Given the description of an element on the screen output the (x, y) to click on. 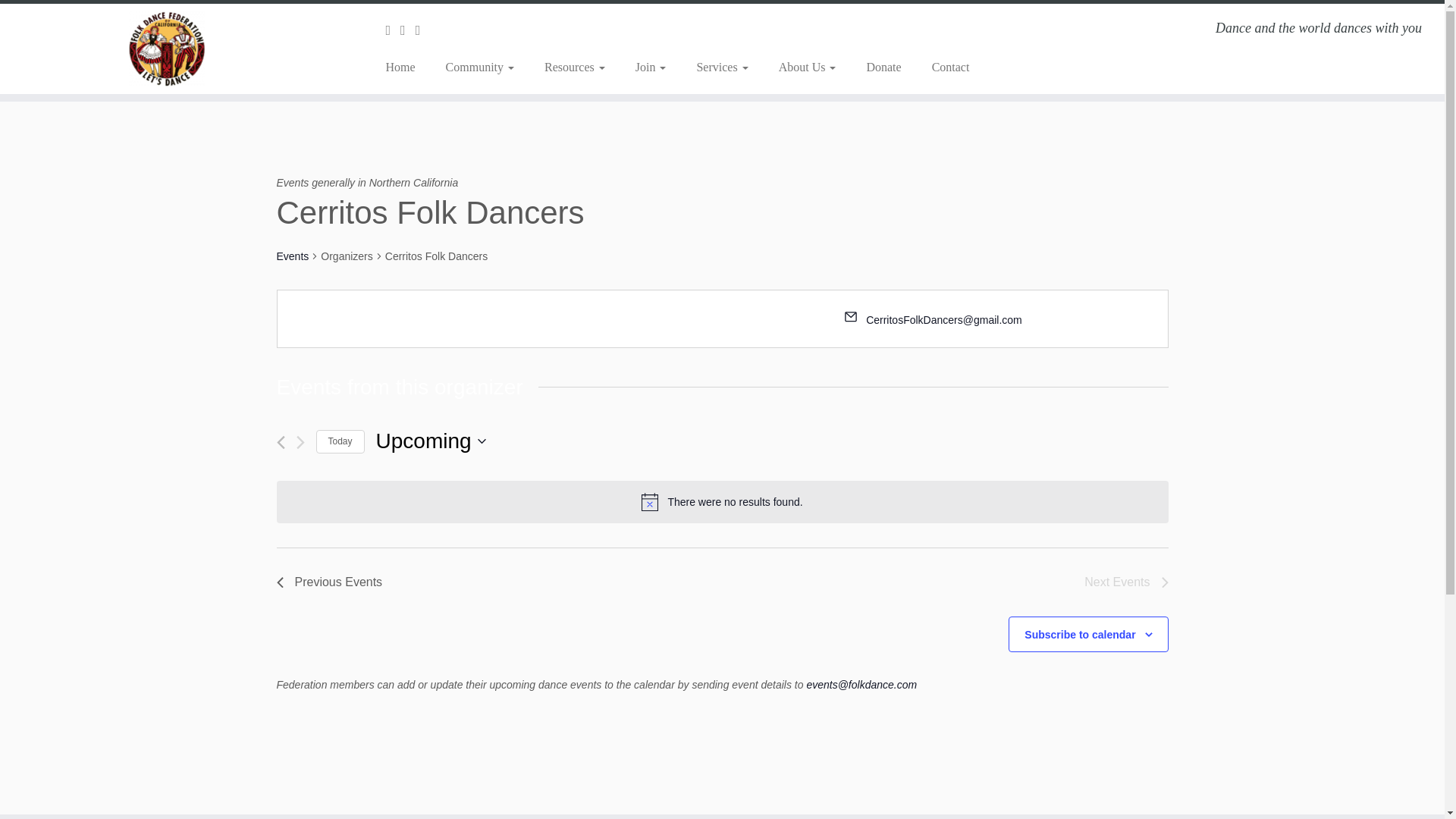
Join (650, 67)
Follow us on Facebook (407, 29)
Click to select today's date (339, 441)
Home (405, 67)
Click to toggle datepicker (430, 440)
Services (721, 67)
Next Events (1125, 582)
Follow us on Youtube (422, 29)
Resources (574, 67)
Previous Events (328, 582)
About Us (806, 67)
Community (479, 67)
Subscribe to my rss feed (392, 29)
